Given the description of an element on the screen output the (x, y) to click on. 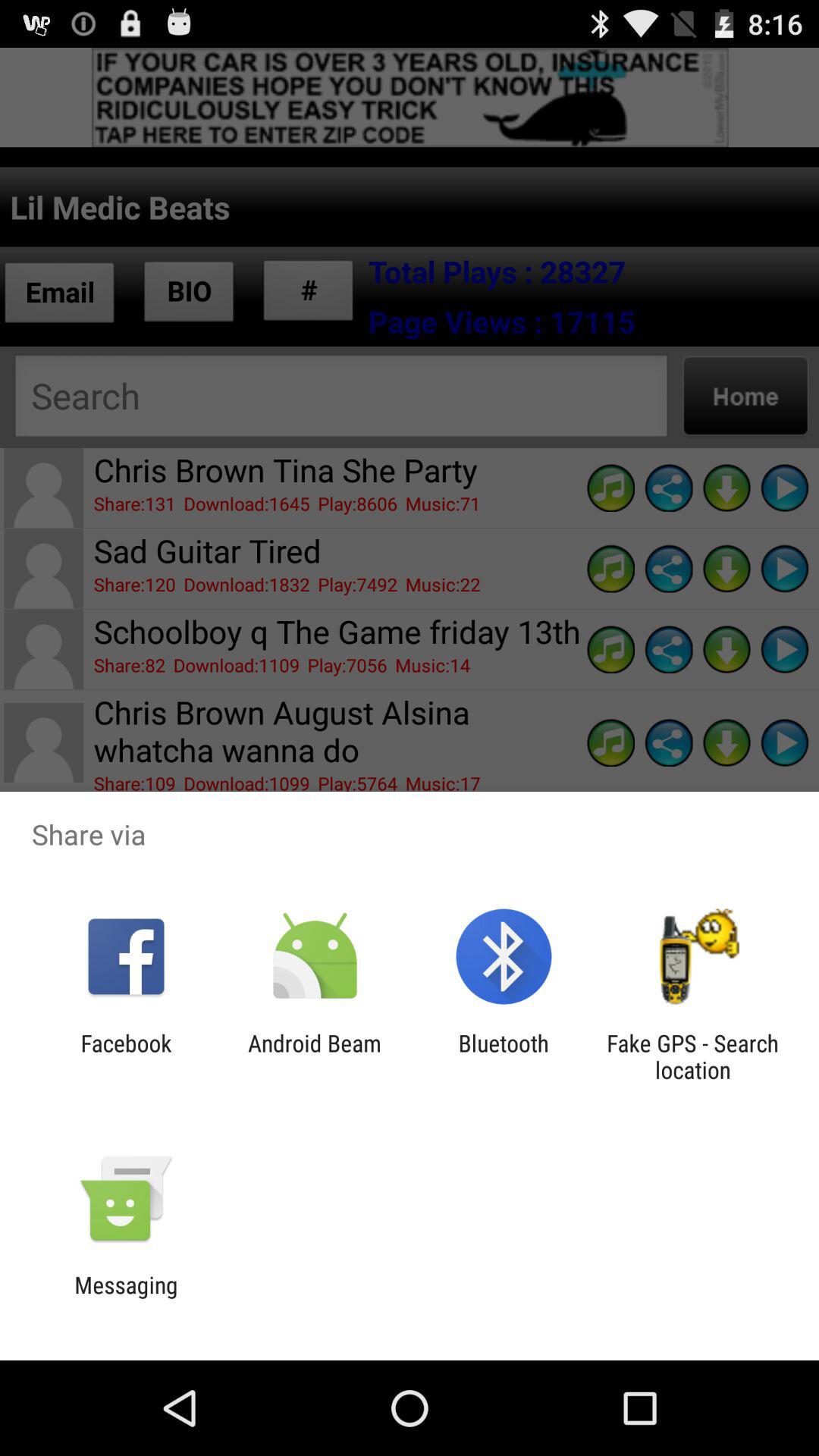
launch facebook app (125, 1056)
